Given the description of an element on the screen output the (x, y) to click on. 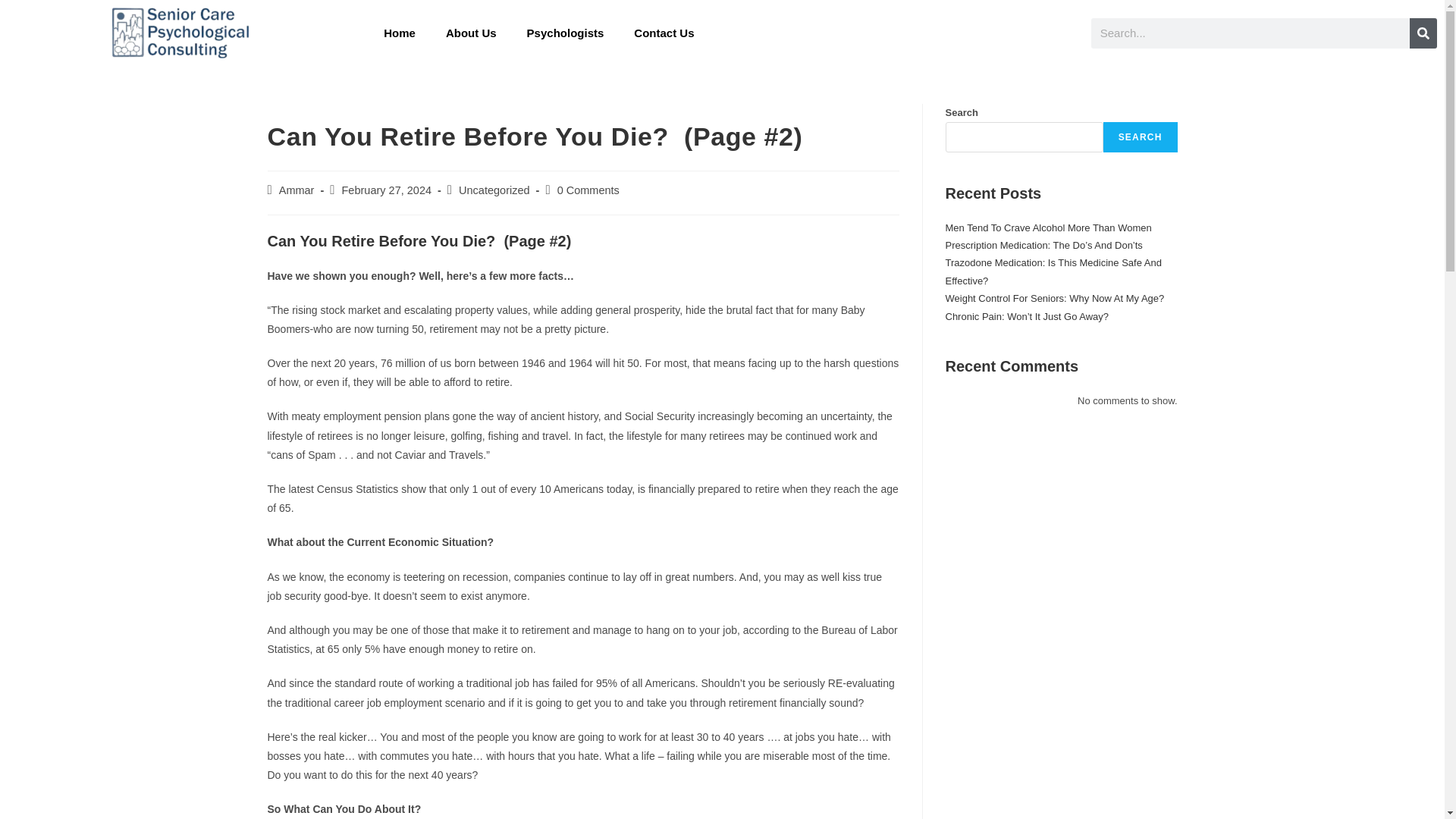
Trazodone Medication: Is This Medicine Safe And Effective? (1052, 271)
Weight Control For Seniors: Why Now At My Age? (1053, 297)
Men Tend To Crave Alcohol More Than Women (1047, 227)
0 Comments (588, 190)
Uncategorized (493, 190)
Ammar (296, 190)
Contact Us (663, 32)
Psychologists (566, 32)
Posts by Ammar (296, 190)
SEARCH (1140, 137)
